Given the description of an element on the screen output the (x, y) to click on. 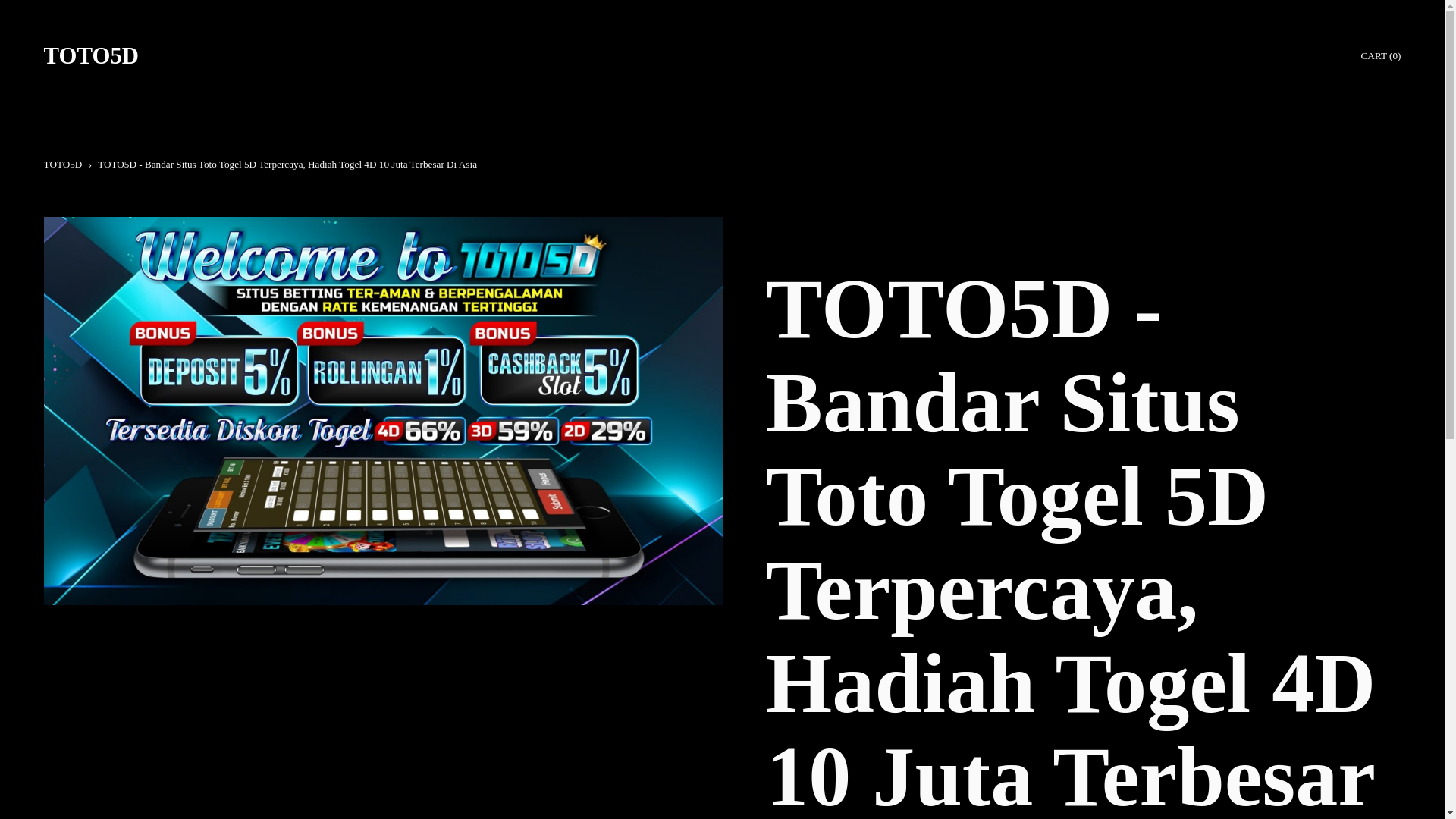
TOTO5D (91, 55)
TOTO5D (62, 163)
